Given the description of an element on the screen output the (x, y) to click on. 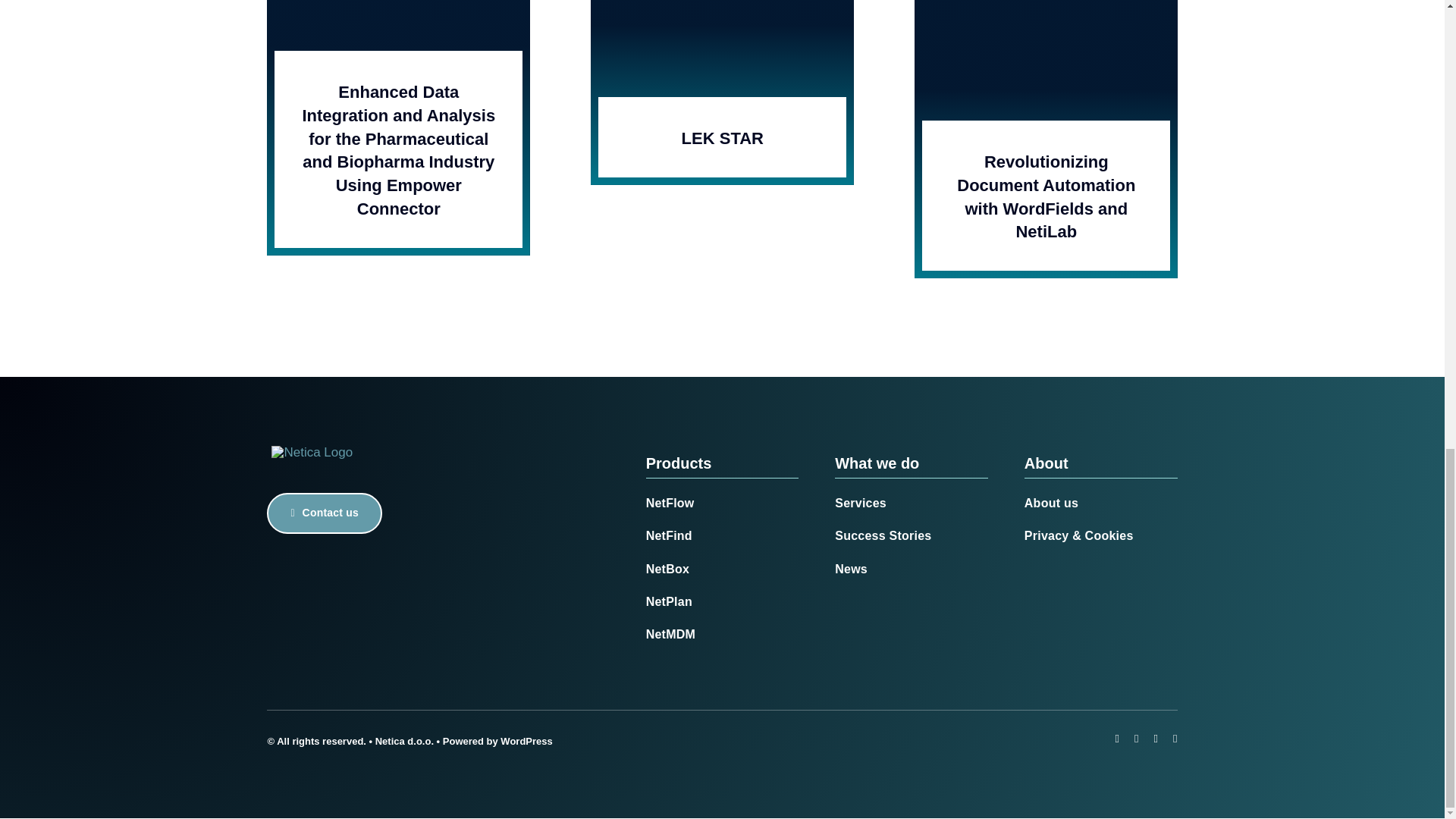
NetPlan (722, 600)
Products (678, 463)
Contact us (323, 513)
NetBox (722, 568)
NetFind (722, 534)
NetMDM (722, 633)
NetFlow (722, 502)
